Given the description of an element on the screen output the (x, y) to click on. 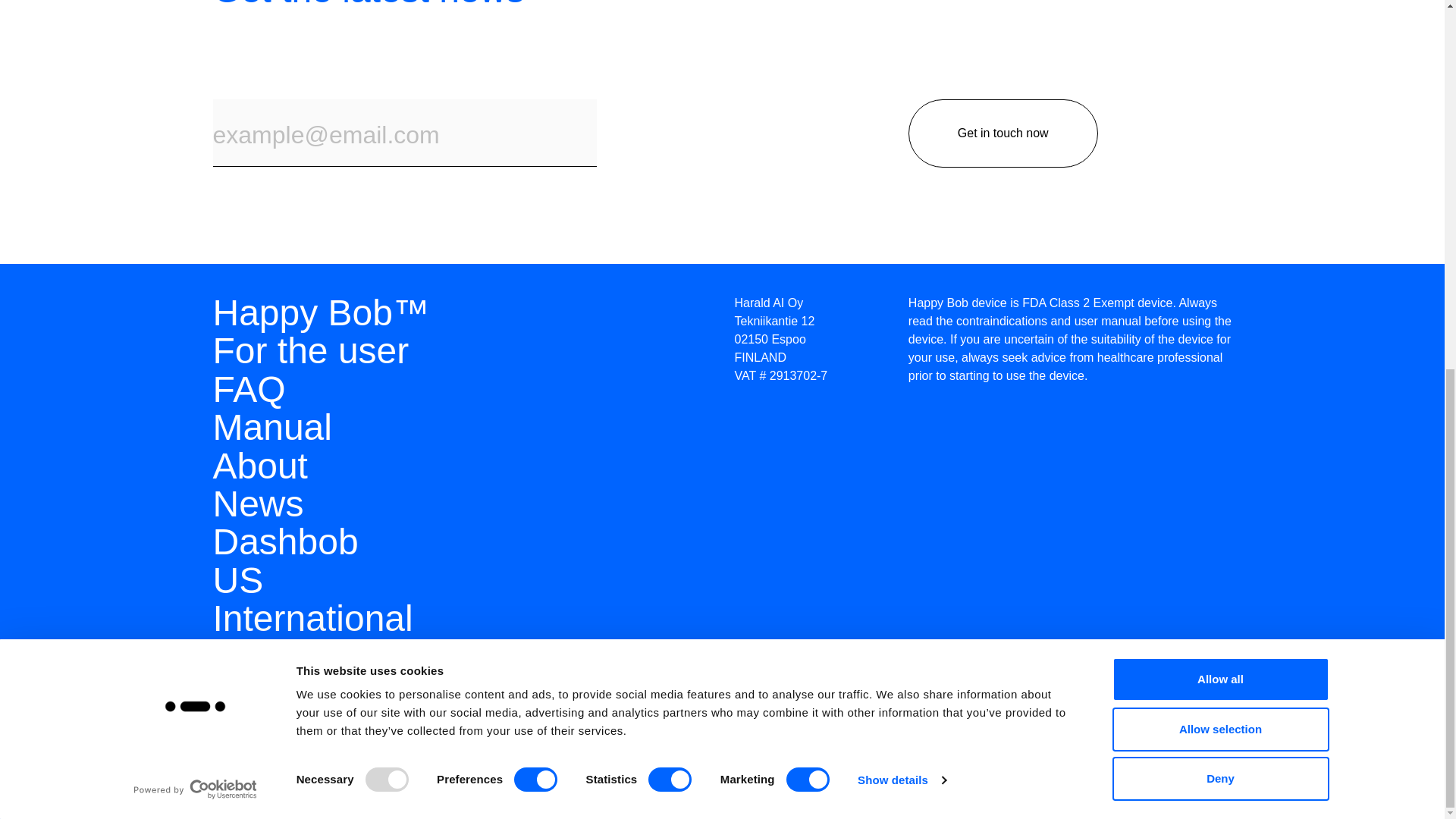
Allow selection (1219, 58)
Deny (1219, 108)
Allow all (1219, 15)
Get in touch now (1002, 133)
Show details (900, 110)
